Given the description of an element on the screen output the (x, y) to click on. 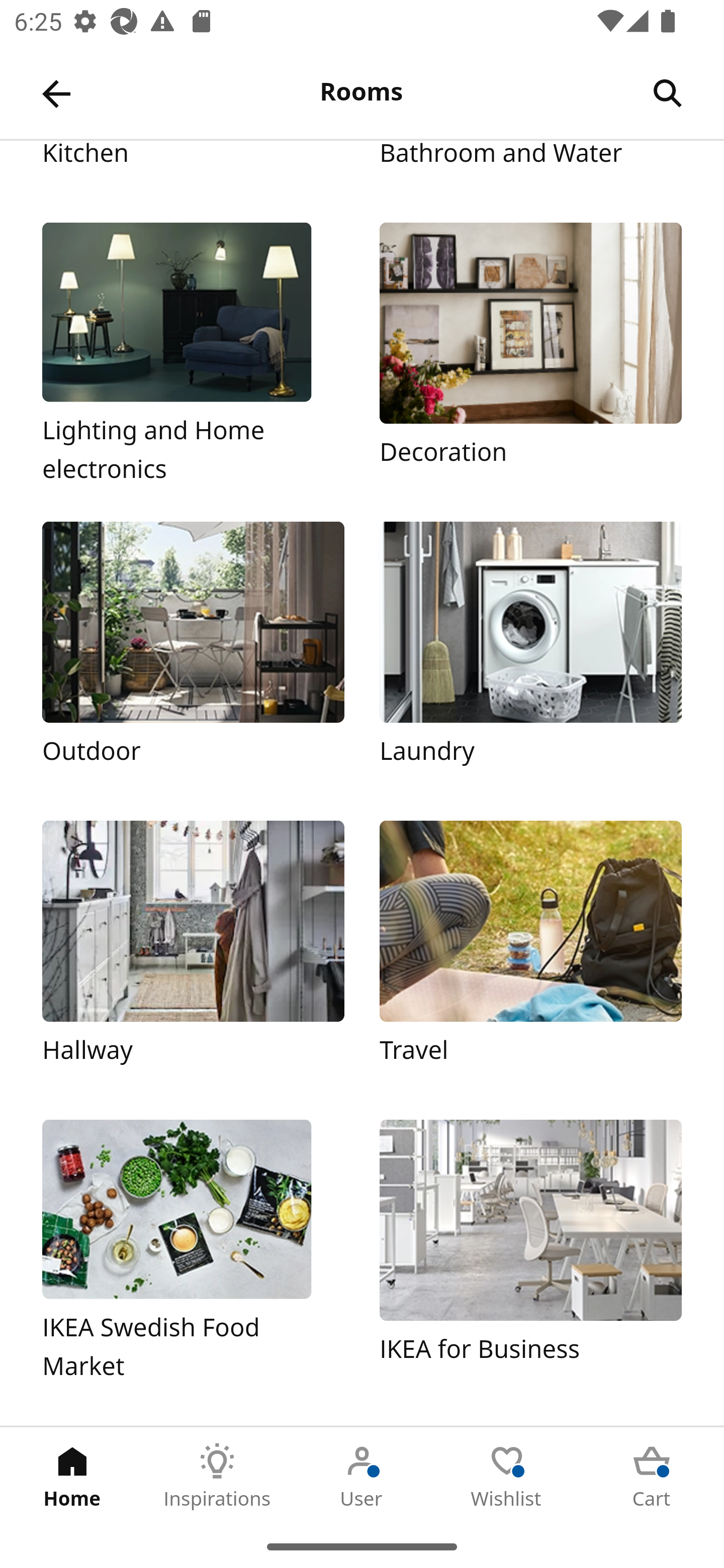
Lighting and Home electronics (192, 354)
Decoration (530, 354)
Outdoor (192, 653)
Laundry (530, 653)
Hallway (192, 952)
Travel (530, 952)
IKEA Swedish Food Market (192, 1250)
IKEA for Business (530, 1250)
Home
Tab 1 of 5 (72, 1476)
Inspirations
Tab 2 of 5 (216, 1476)
User
Tab 3 of 5 (361, 1476)
Wishlist
Tab 4 of 5 (506, 1476)
Cart
Tab 5 of 5 (651, 1476)
